Given the description of an element on the screen output the (x, y) to click on. 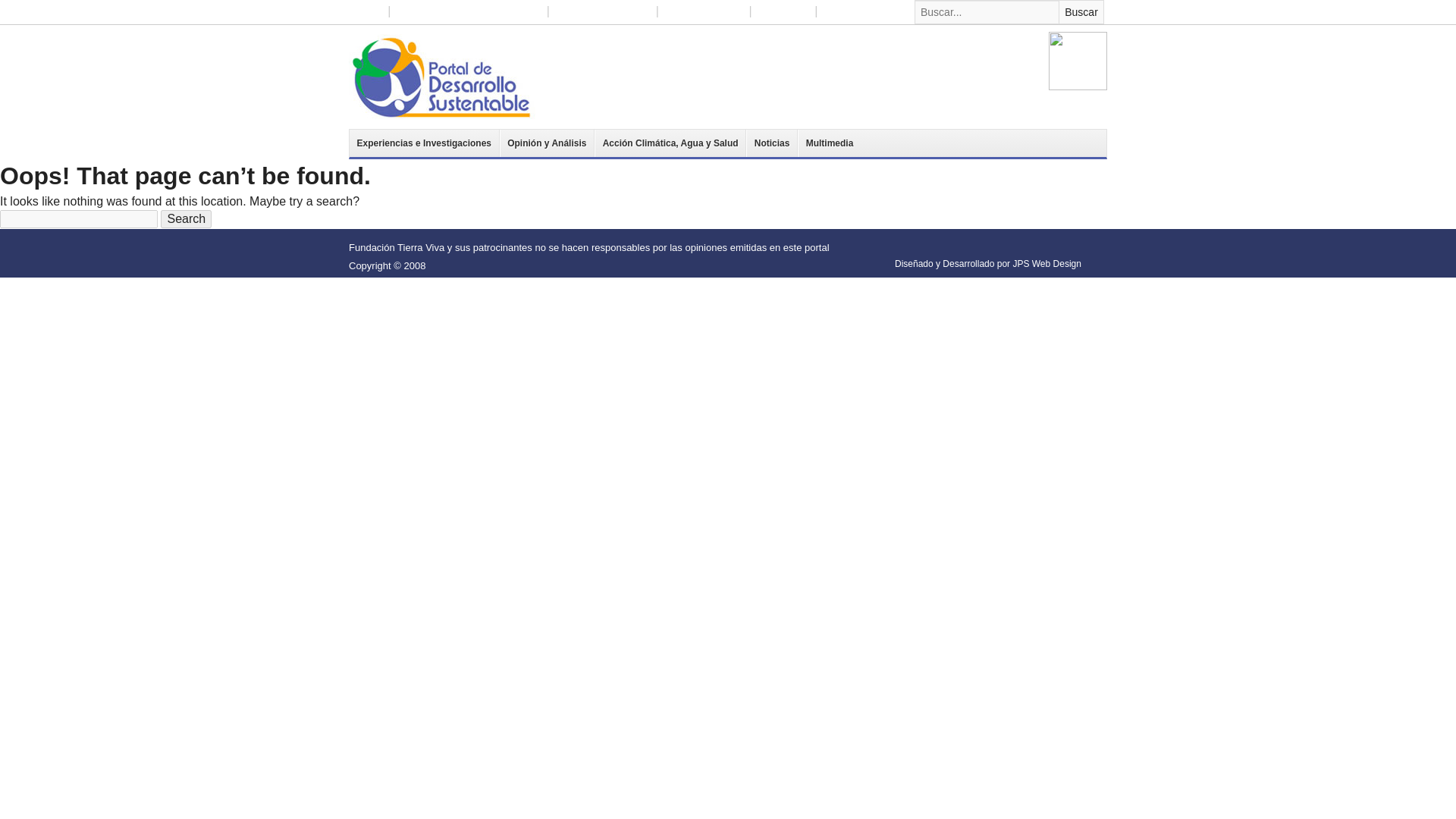
JPS Web Design (1046, 263)
Donaciones (783, 11)
Buscar (1081, 12)
Desarrollo Sustentable (442, 76)
Buscar (1081, 12)
Noticias (771, 143)
Contacto (841, 11)
Search (185, 218)
Experiencias e Investigaciones (424, 143)
Home (368, 11)
